Given the description of an element on the screen output the (x, y) to click on. 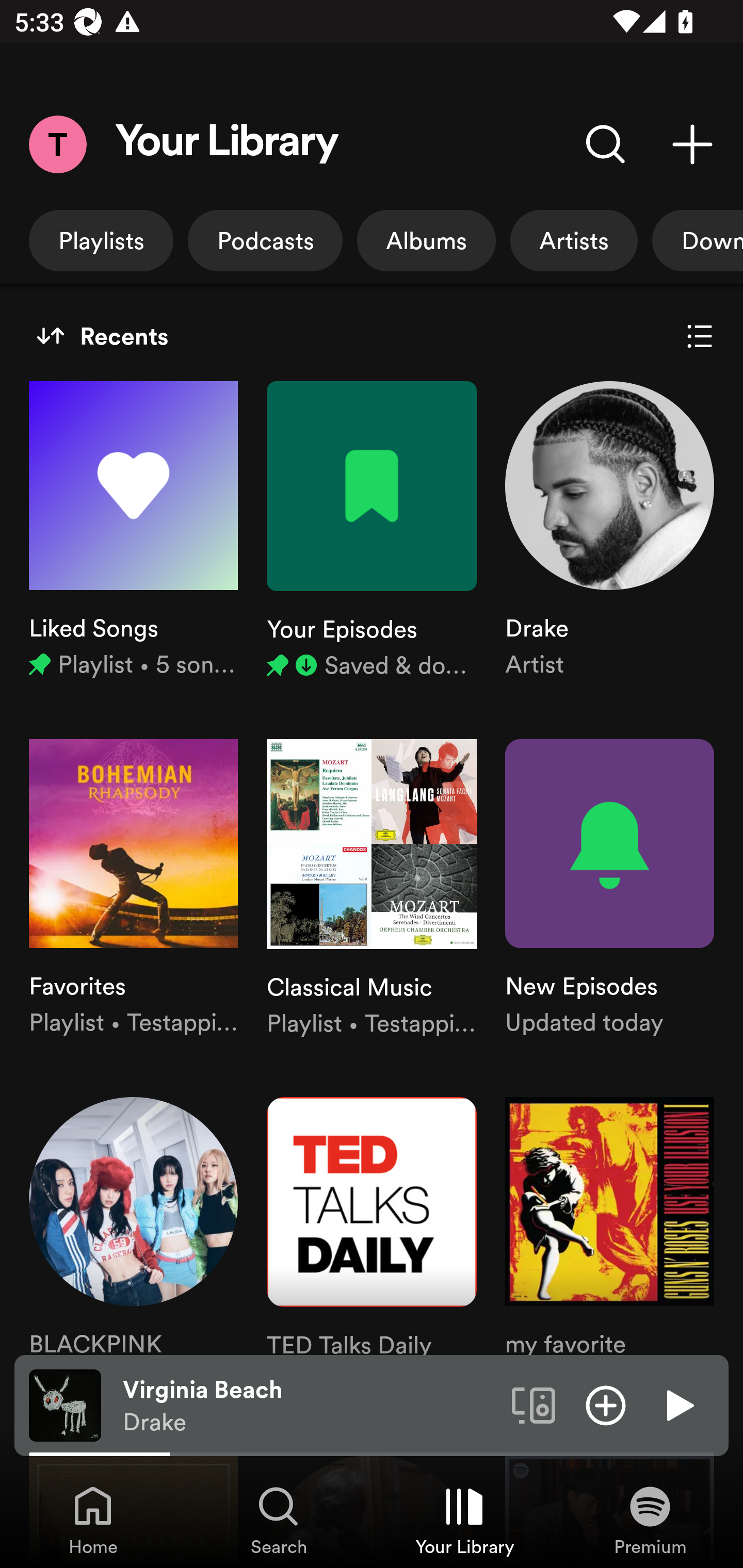
Menu (57, 144)
Search Your Library (605, 144)
Create playlist (692, 144)
Your Library Your Library Heading (226, 144)
Playlists, show only playlists. (100, 240)
Podcasts, show only podcasts. (264, 240)
Albums, show only albums. (426, 240)
Artists, show only artists. (573, 240)
Downloaded, show only downloaded. (697, 240)
Recents (101, 336)
Show List view (699, 336)
Drake, Artist,  Drake Artist (609, 531)
BLACKPINK, Artist,  BLACKPINK Artist (132, 1247)
Virginia Beach Drake (309, 1405)
The cover art of the currently playing track (64, 1404)
Connect to a device. Opens the devices menu (533, 1404)
Add item (605, 1404)
Play (677, 1404)
Home, Tab 1 of 4 Home Home (92, 1519)
Search, Tab 2 of 4 Search Search (278, 1519)
Your Library, Tab 3 of 4 Your Library Your Library (464, 1519)
Premium, Tab 4 of 4 Premium Premium (650, 1519)
